Given the description of an element on the screen output the (x, y) to click on. 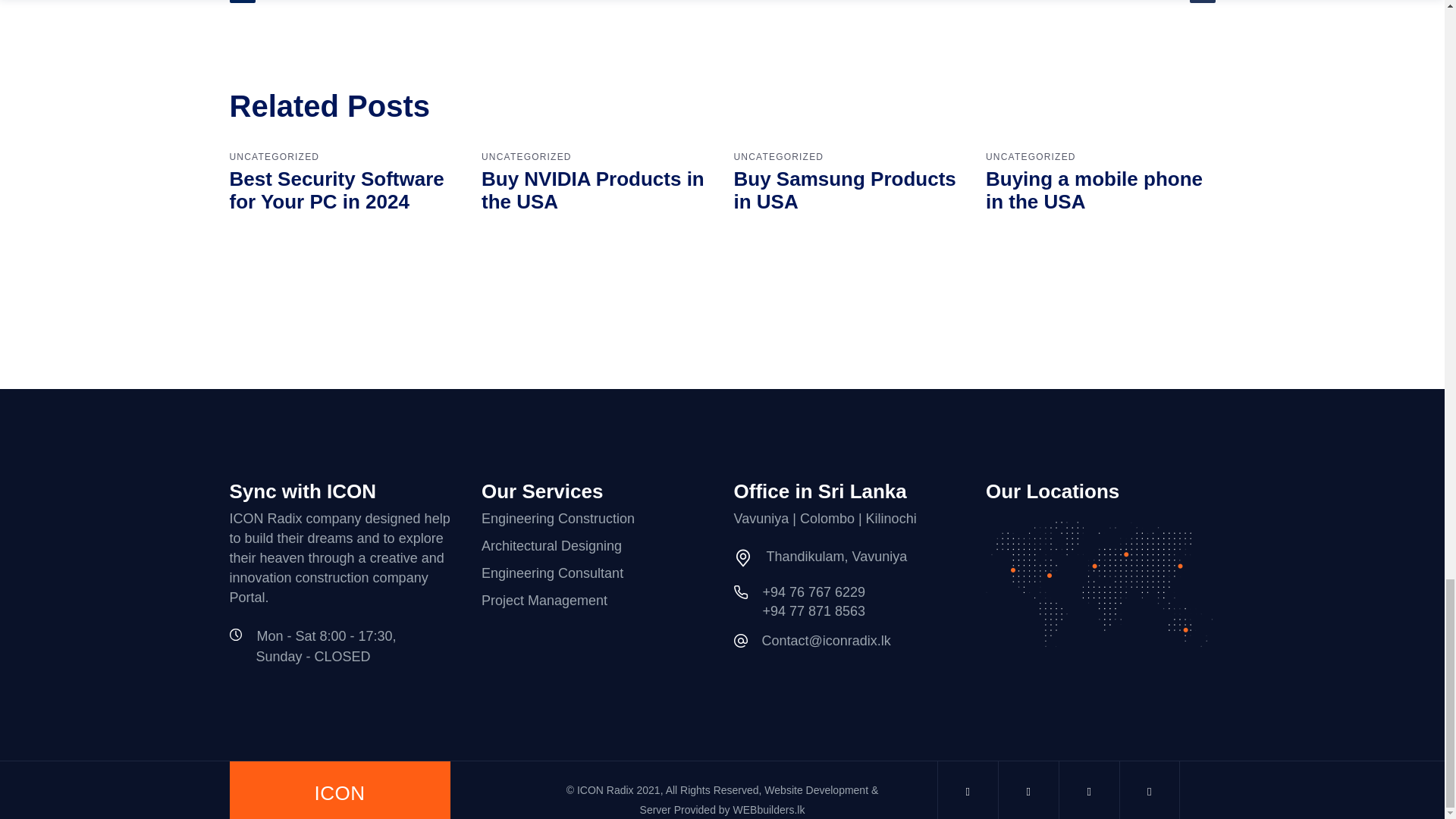
Best Security Software for Your PC in 2024 (336, 189)
Buying a mobile phone in the USA (1093, 189)
Buy NVIDIA Products in the USA (592, 189)
Buy Samsung Products in USA (844, 189)
